Given the description of an element on the screen output the (x, y) to click on. 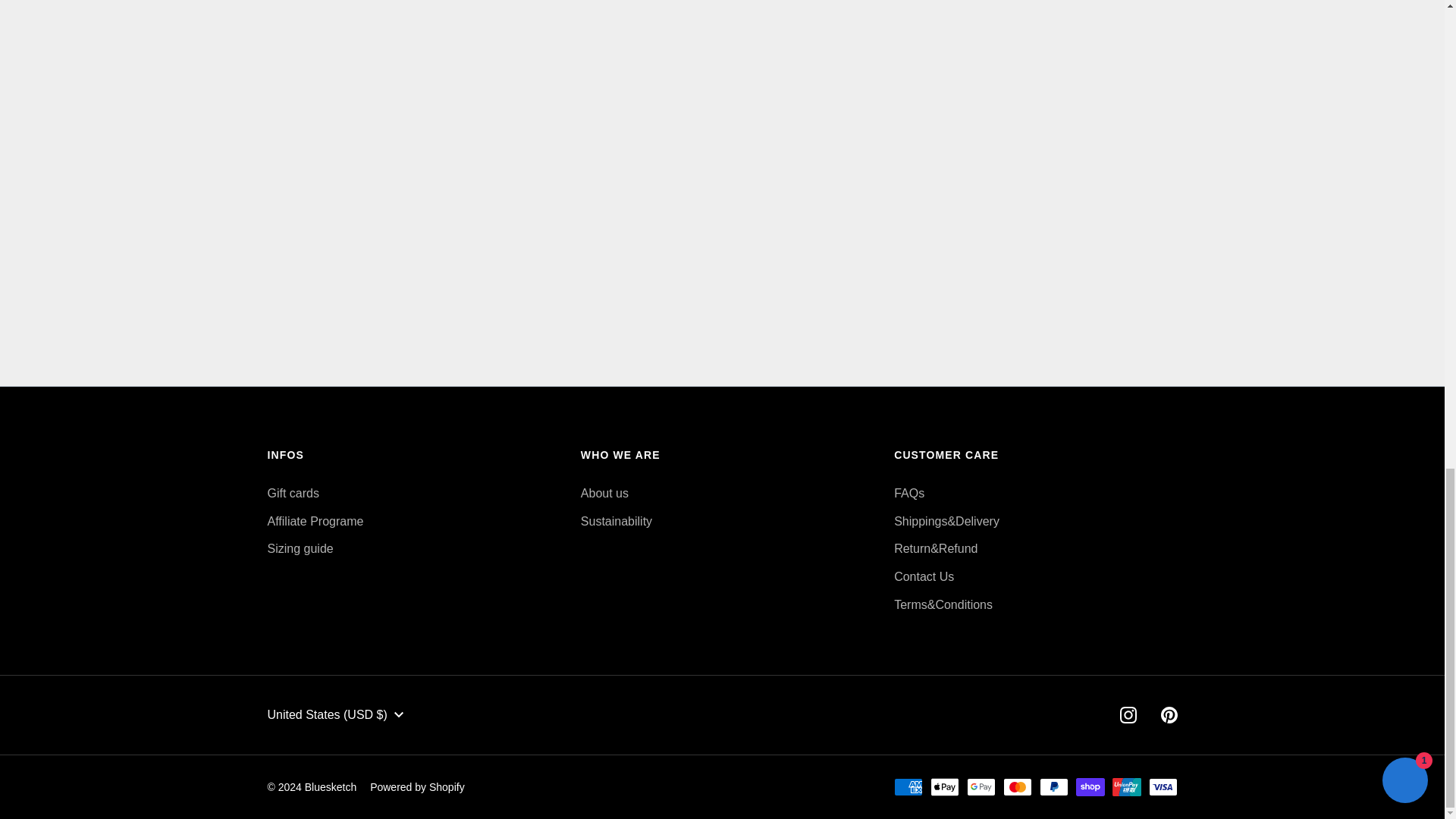
Down (398, 714)
